Given the description of an element on the screen output the (x, y) to click on. 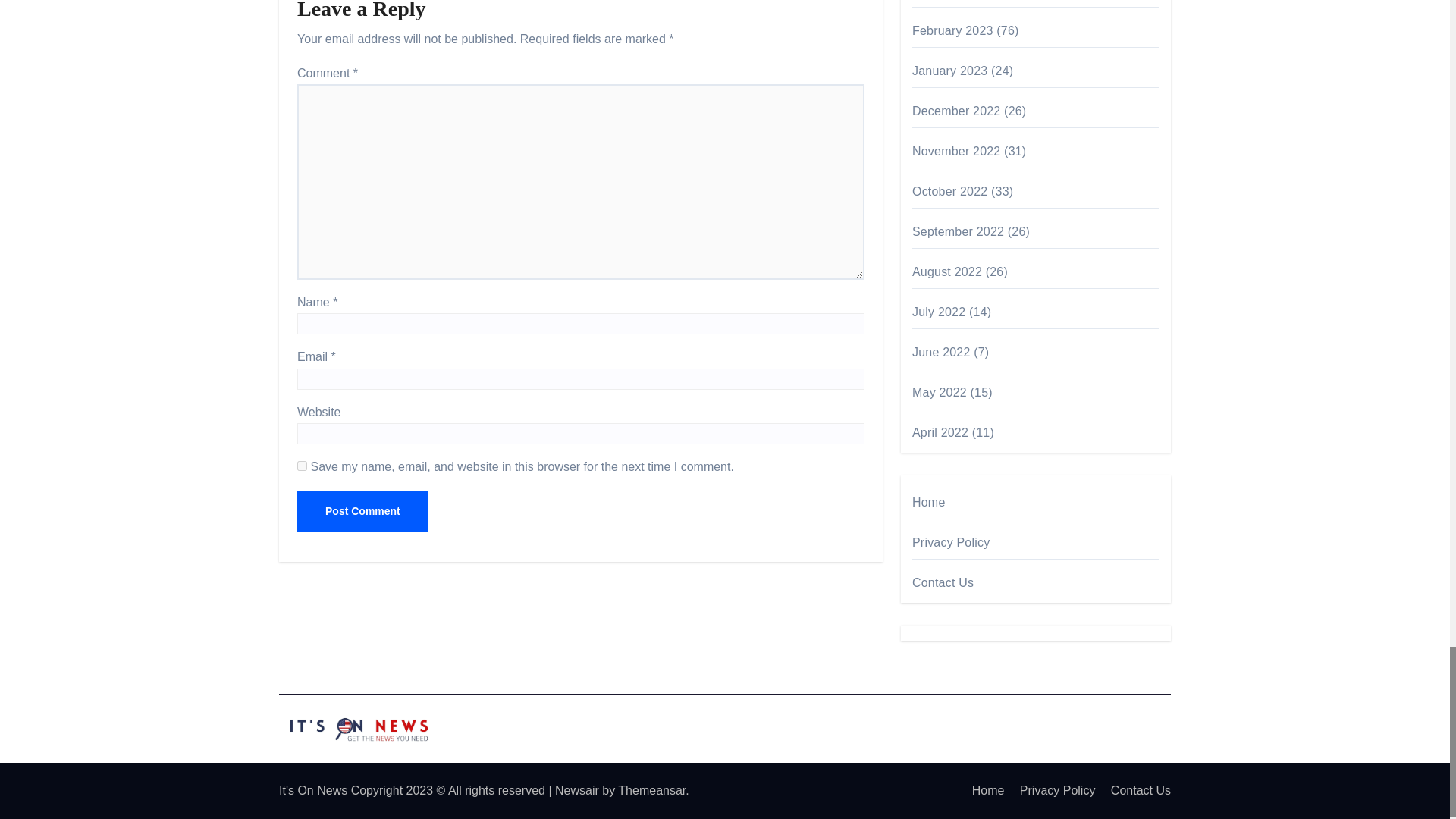
Privacy Policy (1051, 790)
Home (981, 790)
Post Comment (362, 510)
Contact Us (1134, 790)
yes (302, 465)
